Given the description of an element on the screen output the (x, y) to click on. 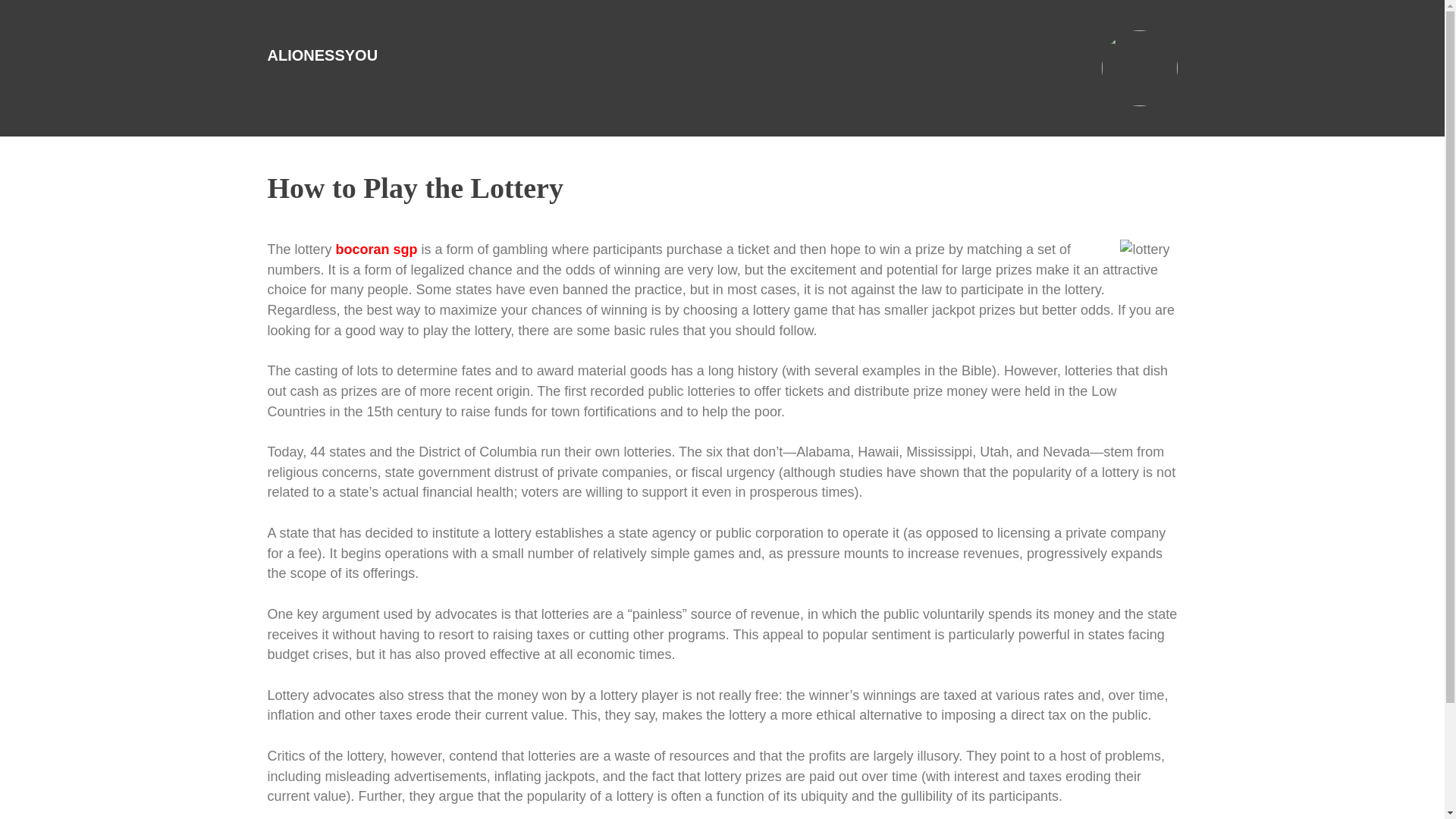
alionessyou (321, 54)
bocoran sgp (376, 249)
ALIONESSYOU (321, 54)
